Given the description of an element on the screen output the (x, y) to click on. 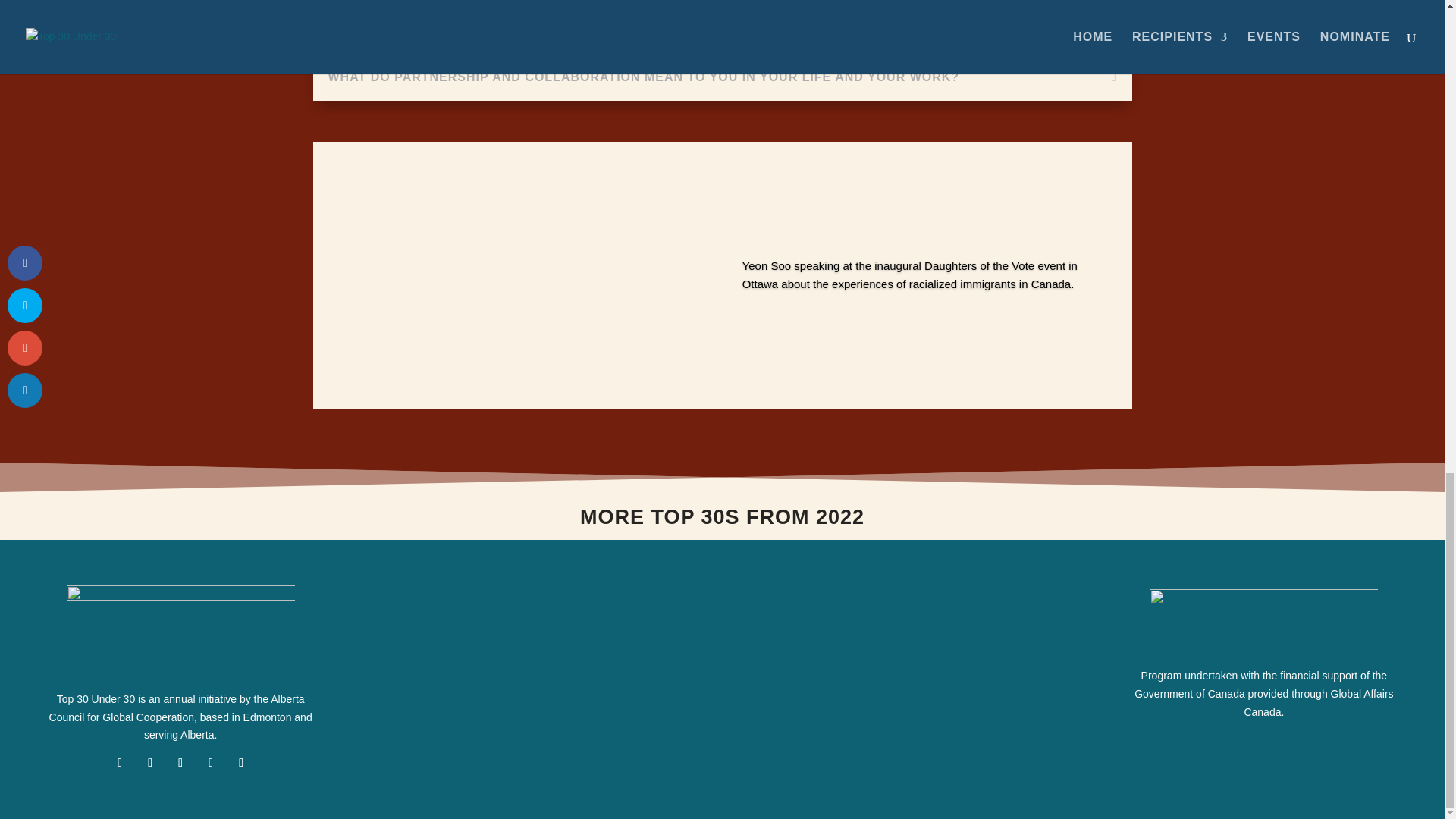
Follow on LinkedIn (180, 762)
Follow on X (149, 762)
Follow on Facebook (119, 762)
Follow on Youtube (240, 762)
Follow on Instagram (210, 762)
